Given the description of an element on the screen output the (x, y) to click on. 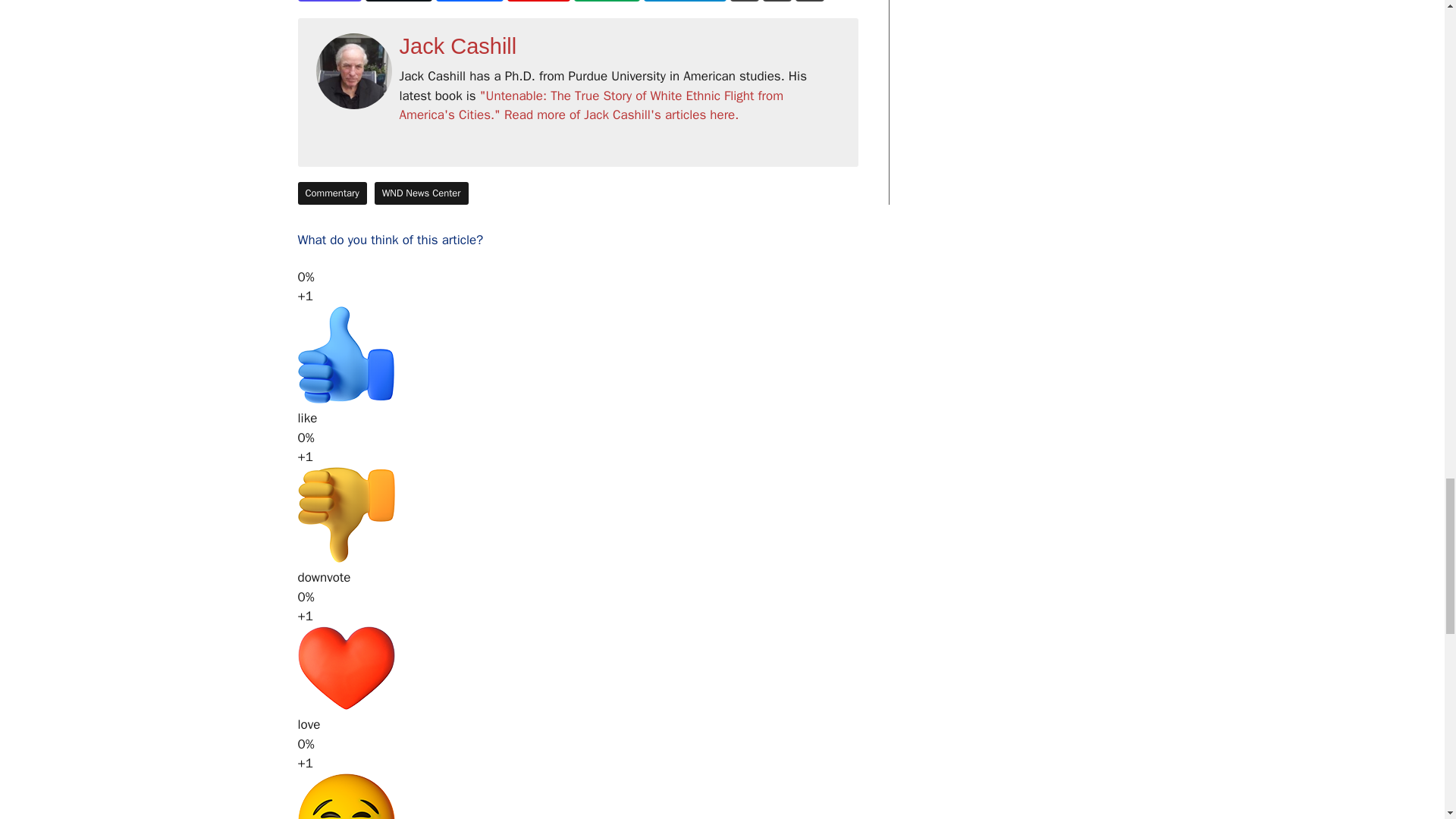
Share on Gettr (538, 0)
Share on Tweet (398, 0)
Share on Share (469, 0)
Share on Truth (329, 0)
